Given the description of an element on the screen output the (x, y) to click on. 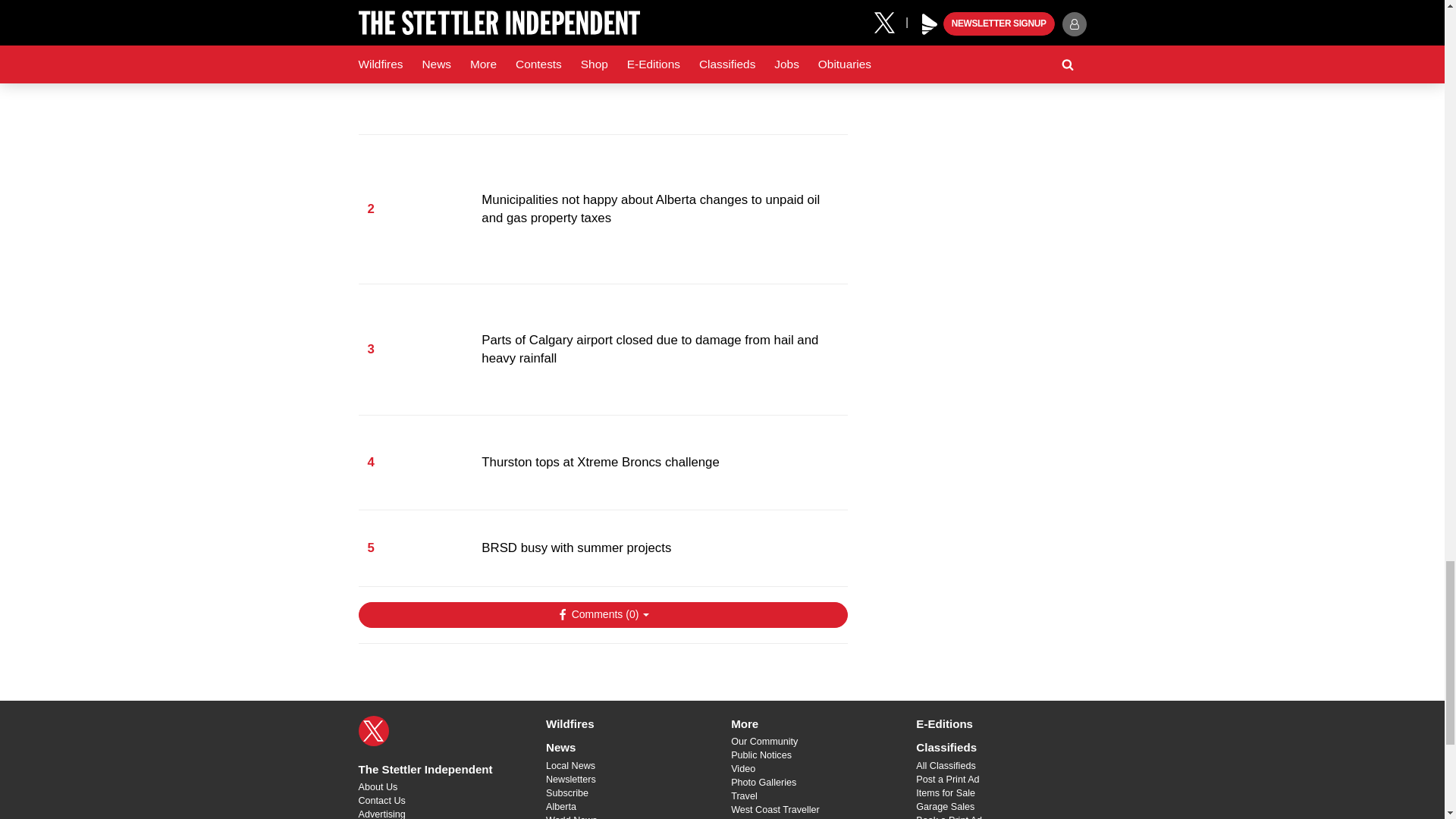
X (373, 730)
Show Comments (602, 614)
